Given the description of an element on the screen output the (x, y) to click on. 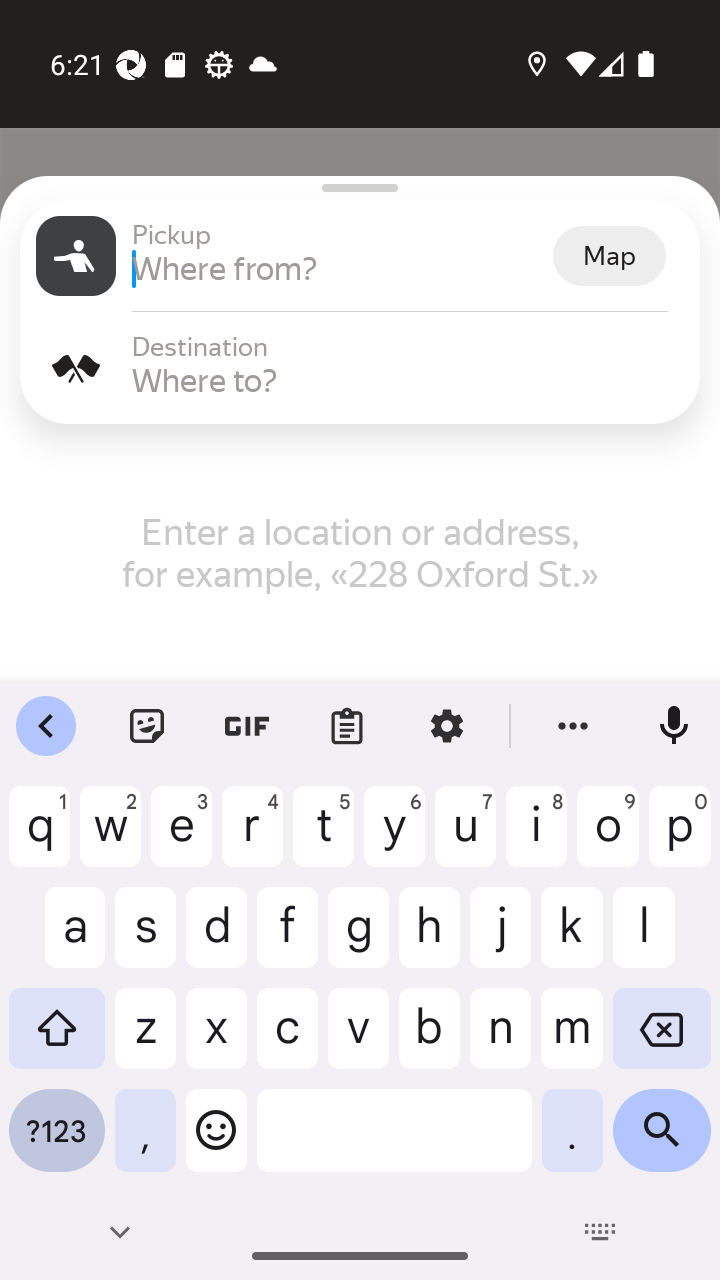
Pickup Pickup Where from? Map (359, 255)
Map (609, 256)
Where from? (340, 268)
Destination Destination Where to? (359, 367)
Where to? (407, 380)
